Given the description of an element on the screen output the (x, y) to click on. 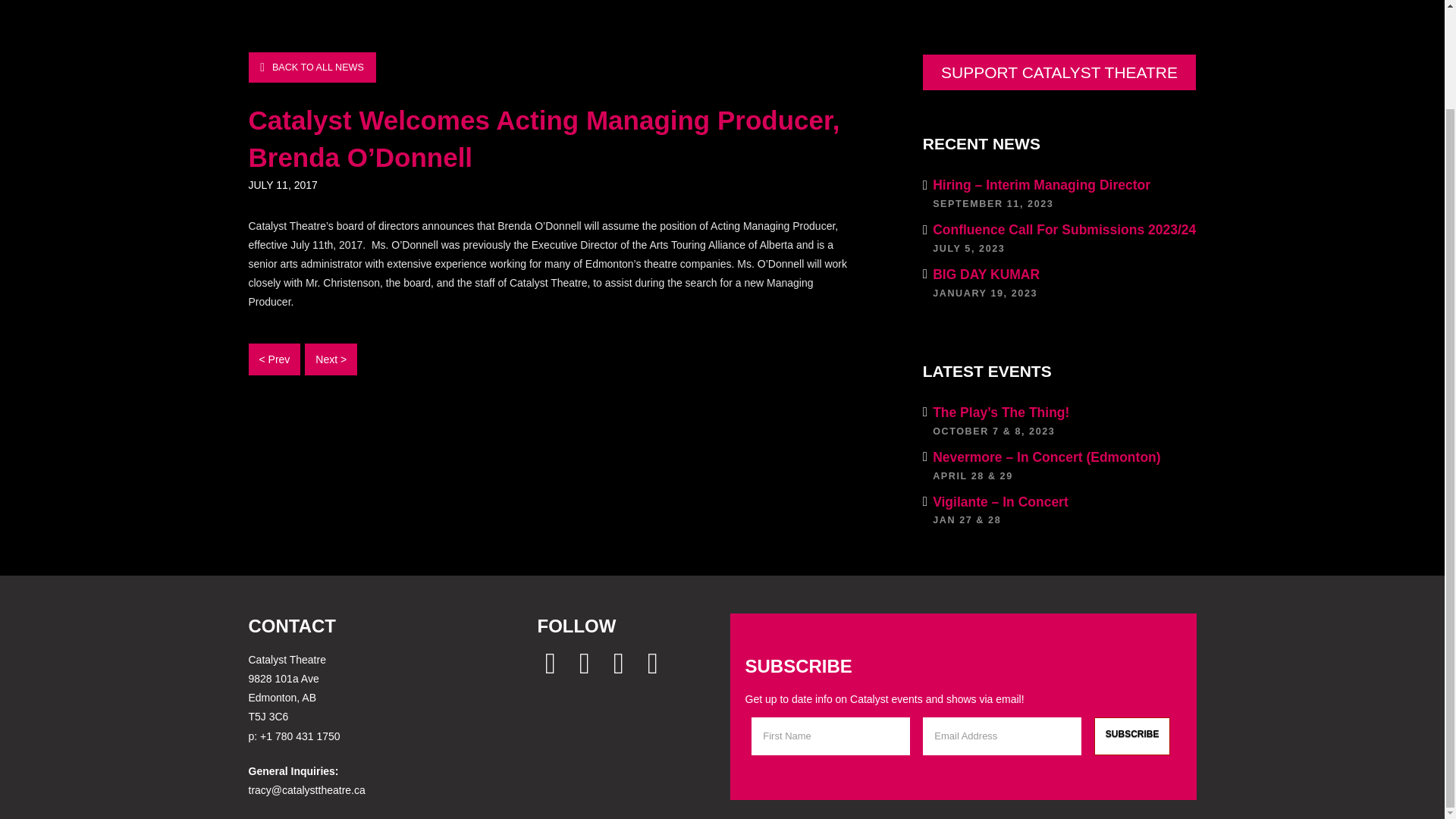
SUBSCRIBE (1059, 282)
SUBSCRIBE (1132, 736)
BACK TO ALL NEWS (1132, 736)
SUPPORT CATALYST THEATRE (311, 67)
